Given the description of an element on the screen output the (x, y) to click on. 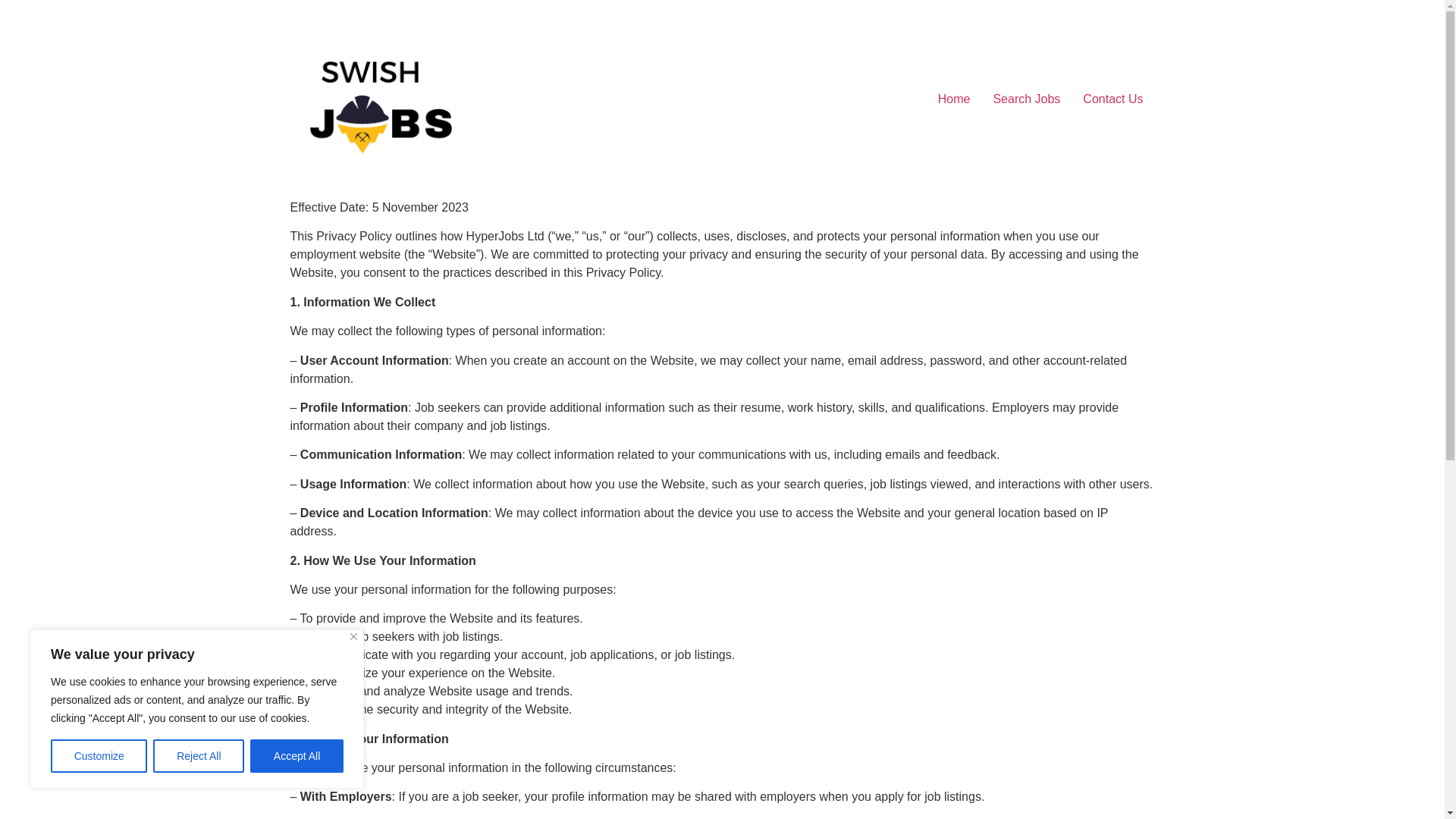
Reject All (198, 756)
Accept All (296, 756)
Customize (98, 756)
Contact Us (1112, 99)
Search Jobs (1026, 99)
Home (953, 99)
